Given the description of an element on the screen output the (x, y) to click on. 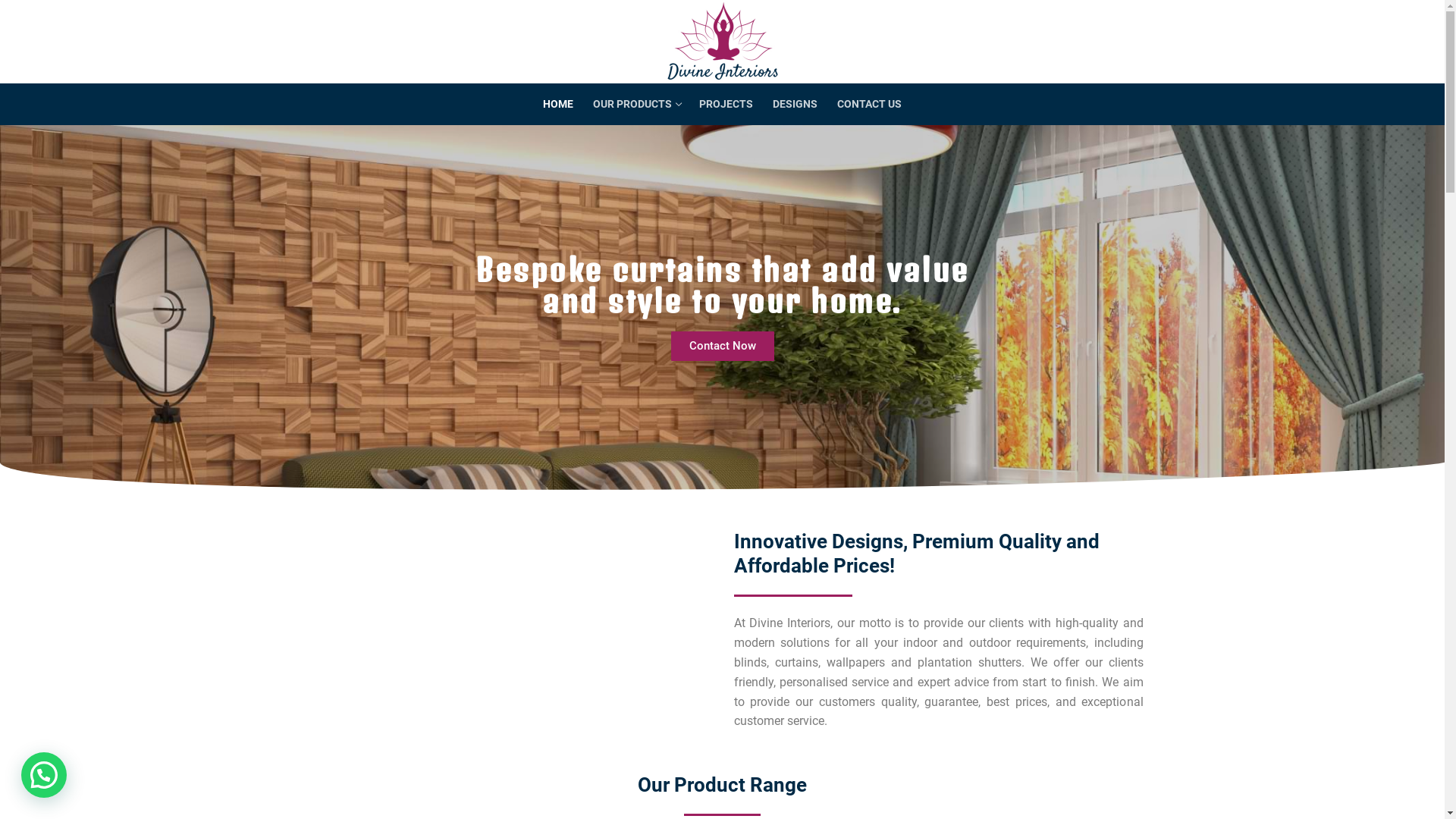
CONTACT US Element type: text (869, 104)
HOME Element type: text (558, 104)
PROJECTS Element type: text (725, 104)
Contact Now Element type: text (721, 345)
DESIGNS Element type: text (794, 104)
OUR PRODUCTS
  Element type: text (636, 104)
